Given the description of an element on the screen output the (x, y) to click on. 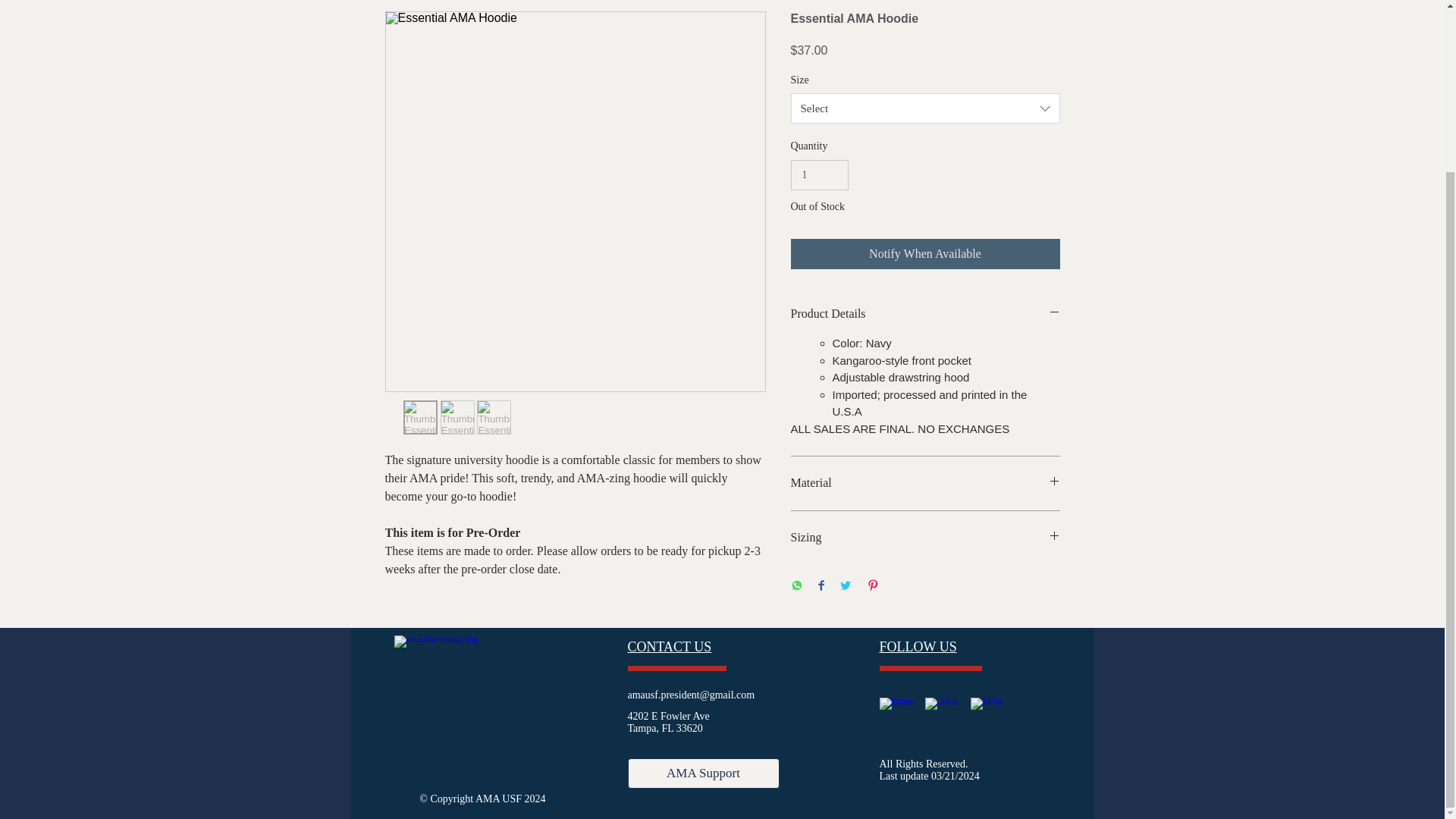
Select (924, 108)
Sizing (924, 537)
Material (924, 483)
Notify When Available (924, 254)
1 (818, 174)
Product Details (924, 313)
CONTACT US (669, 646)
